Given the description of an element on the screen output the (x, y) to click on. 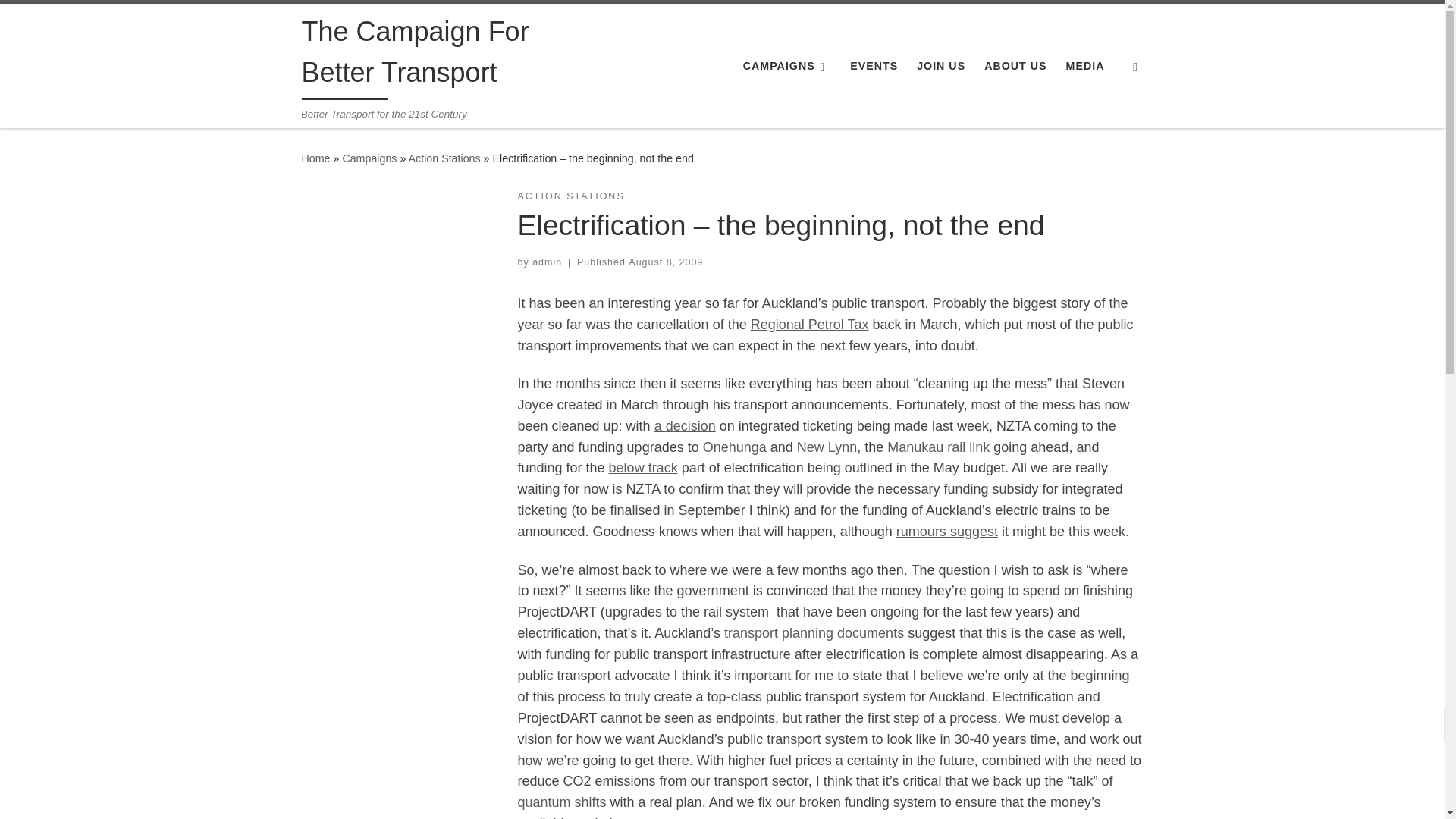
ABOUT US (1015, 65)
The Campaign For Better Transport (315, 158)
a decision (684, 426)
Campaigns (369, 158)
ACTION STATIONS (570, 196)
EVENTS (873, 65)
Skip to content (60, 20)
Action Stations (444, 158)
Action Stations (444, 158)
CAMPAIGNS (786, 65)
JOIN US (941, 65)
View all posts by admin (547, 262)
Manukau rail link (938, 447)
August 8, 2009 (665, 262)
Regional Petrol Tax (810, 324)
